Given the description of an element on the screen output the (x, y) to click on. 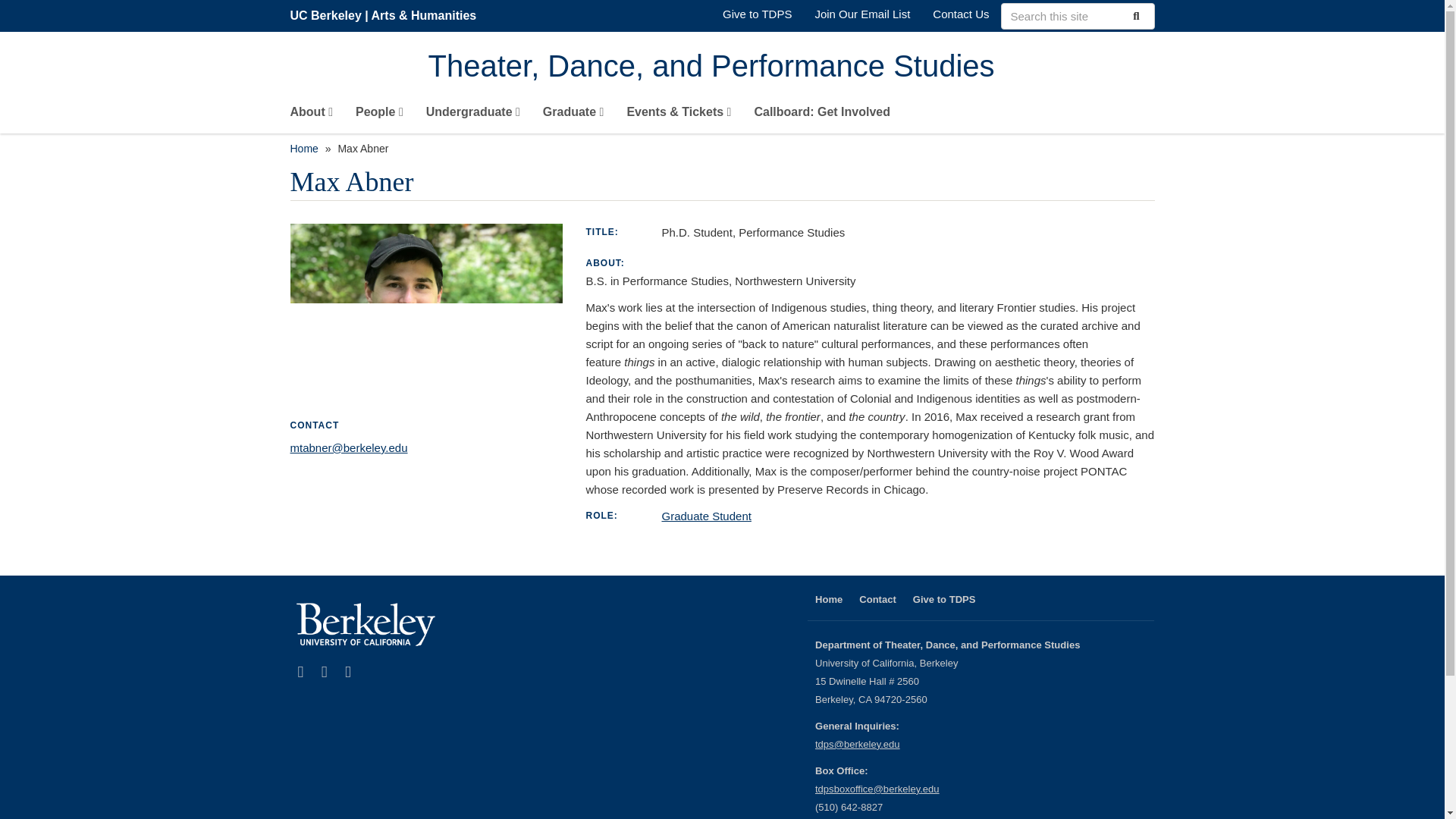
Undergraduate (472, 115)
UC Berkeley (325, 15)
Theater, Dance, and Performance Studies (791, 67)
People (379, 115)
Submit Search (1133, 15)
About (311, 115)
Home (791, 67)
